Given the description of an element on the screen output the (x, y) to click on. 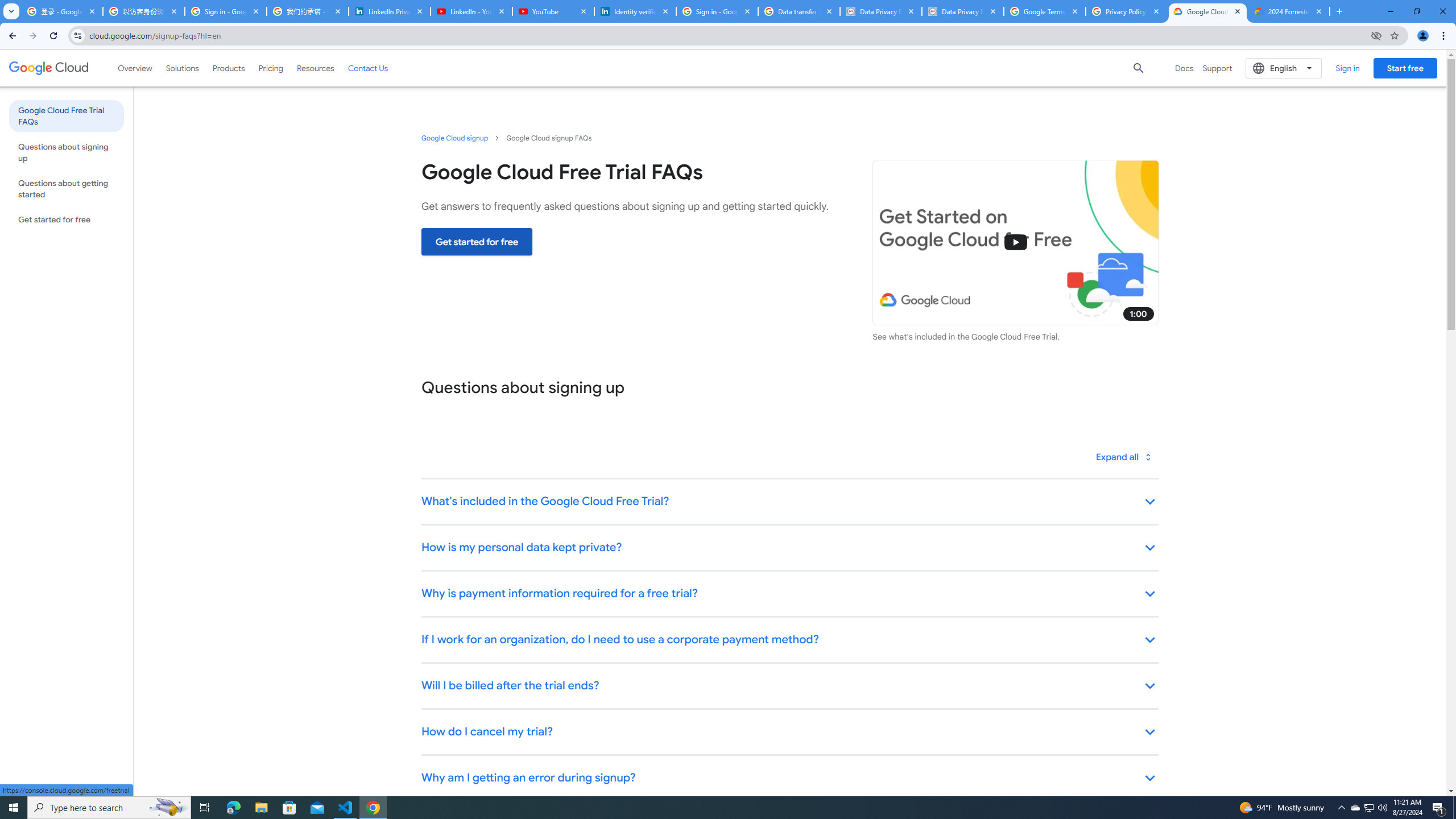
Docs (1183, 67)
Pricing (270, 67)
Data Privacy Framework (880, 11)
Resources (314, 67)
Sign in - Google Accounts (225, 11)
Questions about getting started (65, 188)
